Given the description of an element on the screen output the (x, y) to click on. 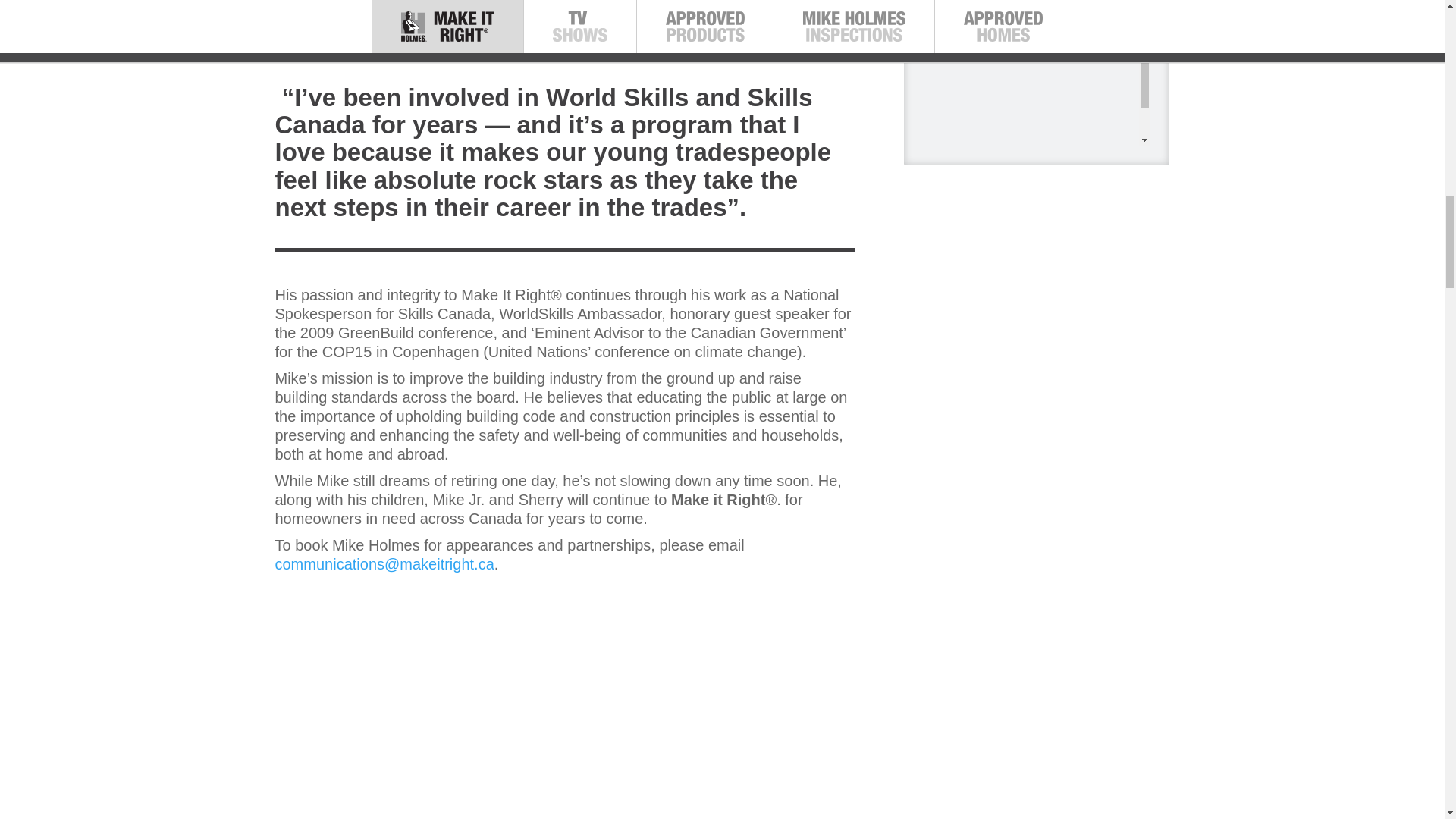
Likebox Iframe (1030, 627)
Share (1024, 10)
View on Facebook (964, 10)
Mike Holmes (945, 59)
View on Facebook (964, 537)
Share (1024, 537)
